Given the description of an element on the screen output the (x, y) to click on. 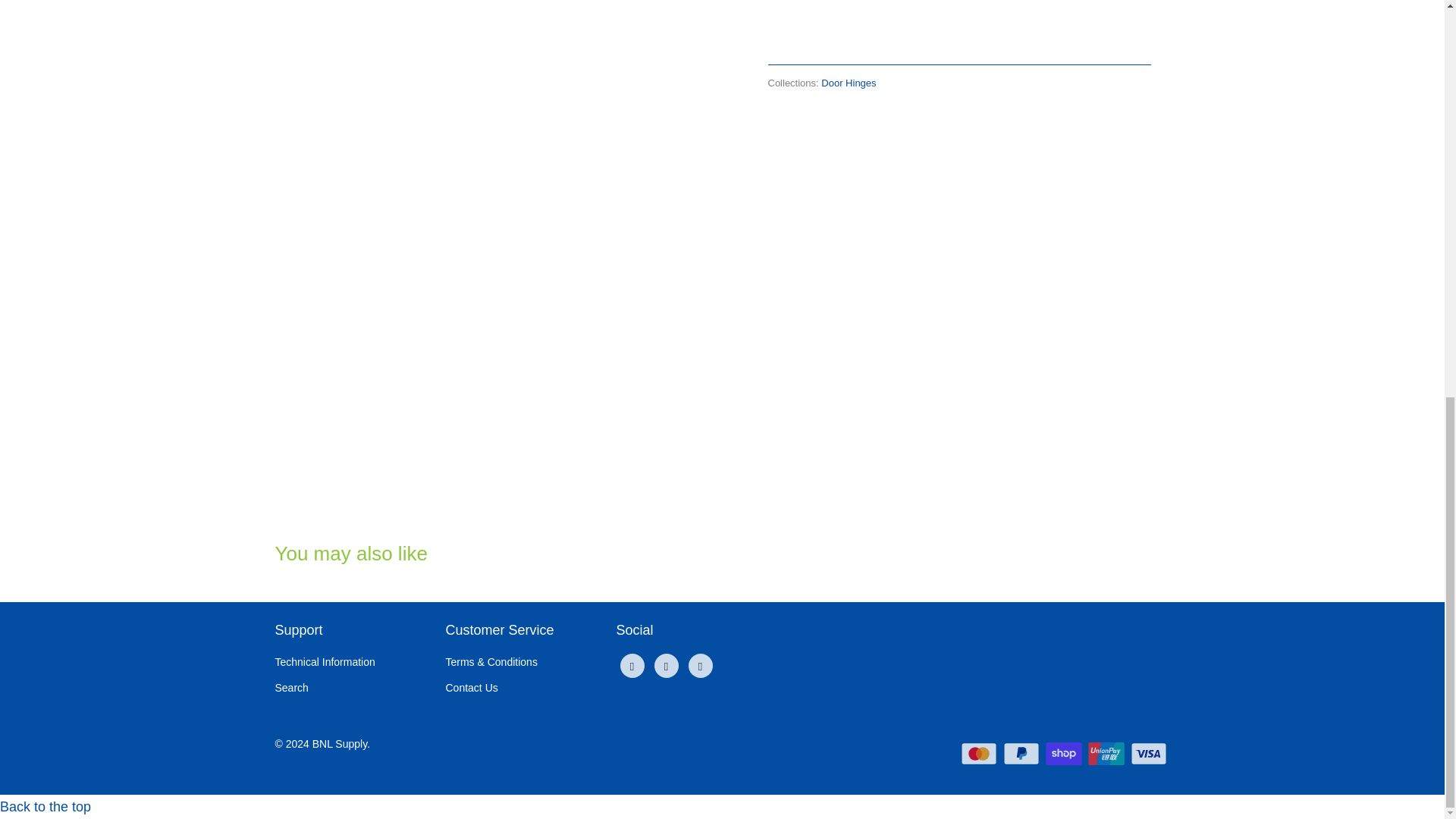
Mastercard (980, 753)
Shop Pay (1064, 753)
BNL Supply on Facebook (632, 665)
Union Pay (1106, 753)
Door Hinges (848, 82)
PayPal (1022, 753)
Email BNL Supply (700, 665)
BNL Supply on LinkedIn (665, 665)
Visa (1149, 753)
